Given the description of an element on the screen output the (x, y) to click on. 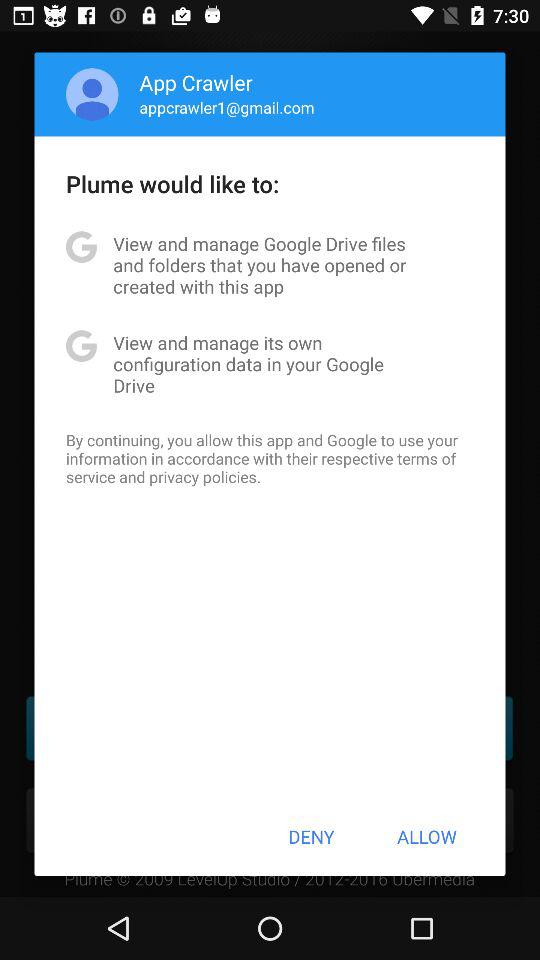
choose the app above plume would like (92, 94)
